Given the description of an element on the screen output the (x, y) to click on. 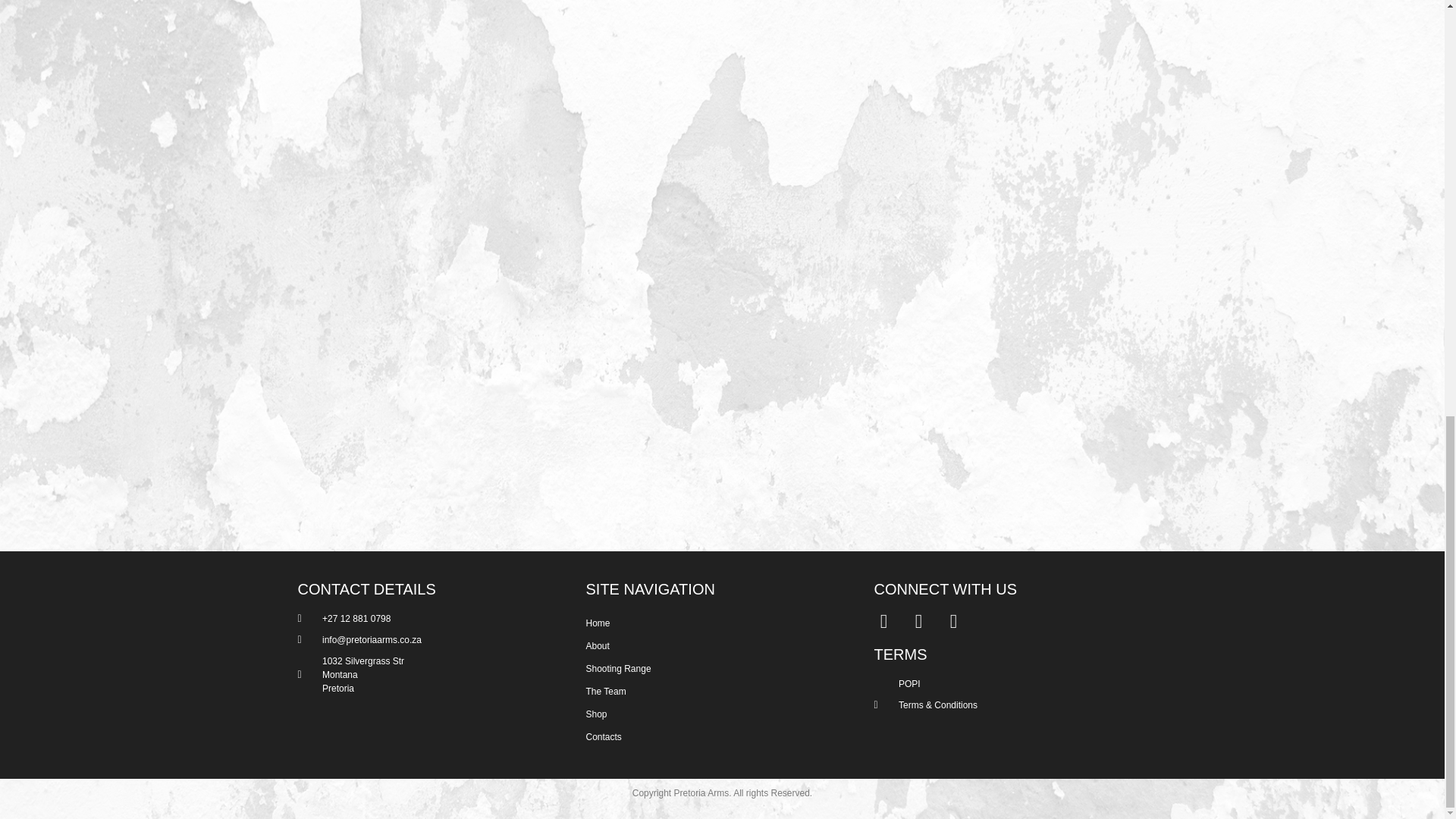
153 (992, 74)
The Team (714, 691)
Home (714, 622)
Contacts (714, 736)
Shop (714, 713)
About (714, 645)
Shooting Range (714, 668)
